Given the description of an element on the screen output the (x, y) to click on. 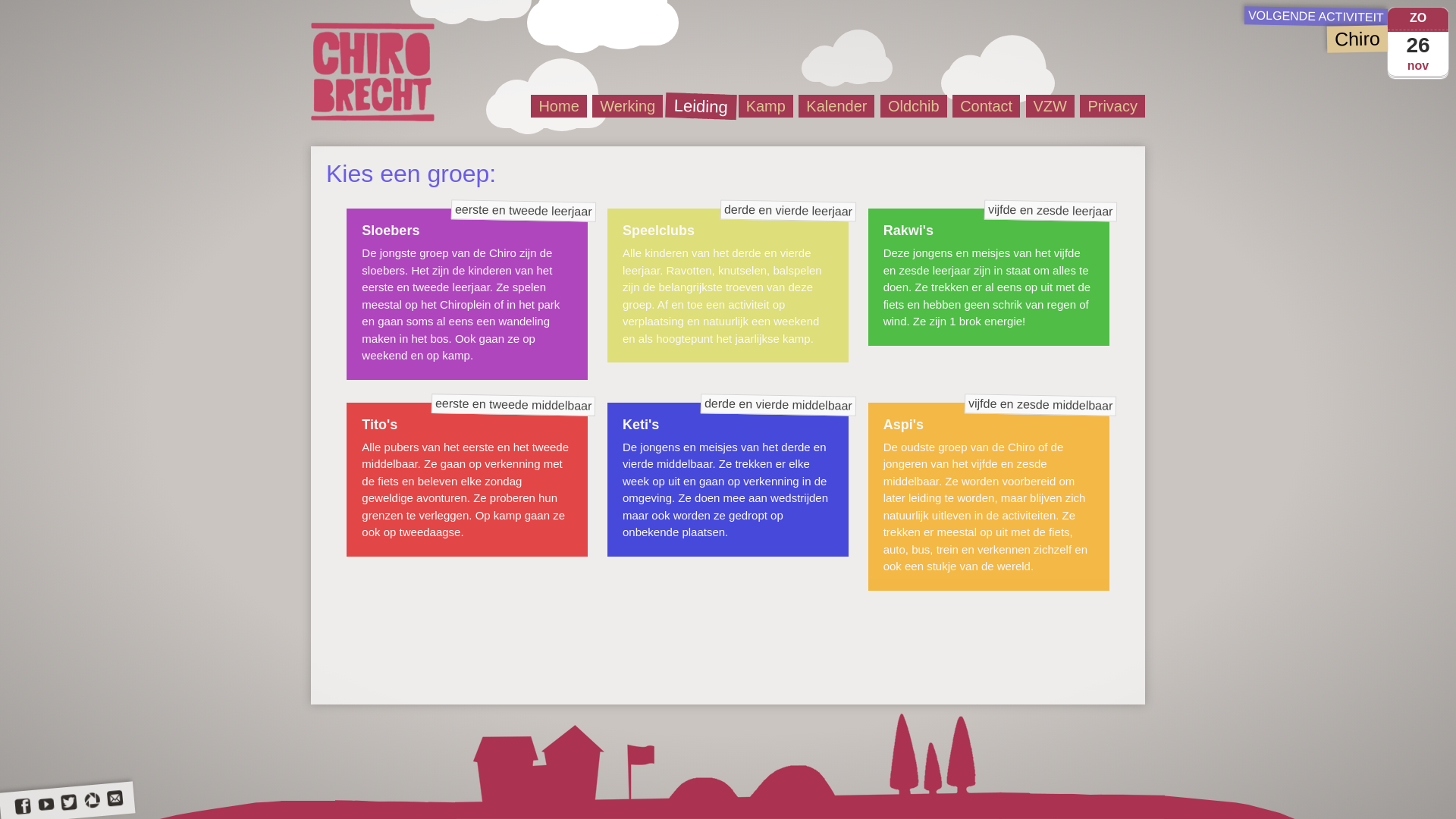
Chiro Brecht op Twitter Element type: hover (67, 802)
Kalender Element type: text (836, 105)
Chiro Brecht op YouTube Element type: hover (45, 805)
Leiding Element type: text (697, 103)
nov
ZO
26
VOLGENDE ACTIVITEIT
Chiro Element type: text (1346, 29)
VZW Element type: text (1050, 105)
Home Element type: text (558, 105)
Chiro Brecht op Facebook Element type: hover (21, 806)
Privacy Element type: text (1112, 105)
Kamp Element type: text (765, 105)
Contact Element type: text (985, 105)
Werking Element type: text (627, 105)
Stuur ons een e-mail Element type: hover (114, 798)
Oldchib Element type: text (913, 105)
Chiro Brecht op Picasa Element type: hover (91, 800)
